Given the description of an element on the screen output the (x, y) to click on. 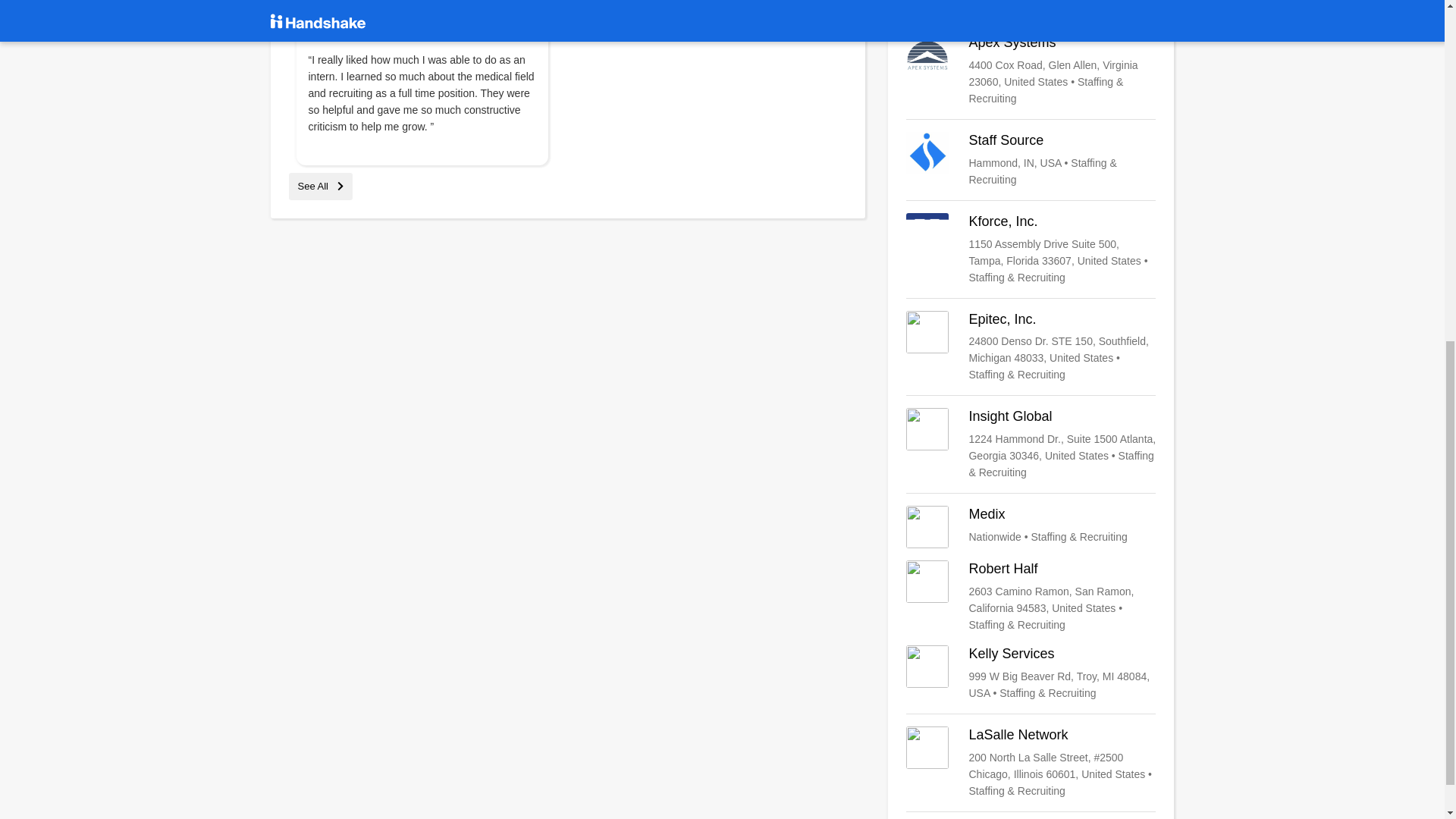
Insight Global (1030, 443)
Aerotek (1030, 4)
Staff Source (1030, 159)
See All (320, 185)
Robert Half (1030, 596)
Apex Systems (1030, 70)
LaSalle Network (1030, 762)
Kelly Services (1030, 673)
Epitec, Inc. (1030, 347)
Kforce, Inc. (1030, 248)
